Given the description of an element on the screen output the (x, y) to click on. 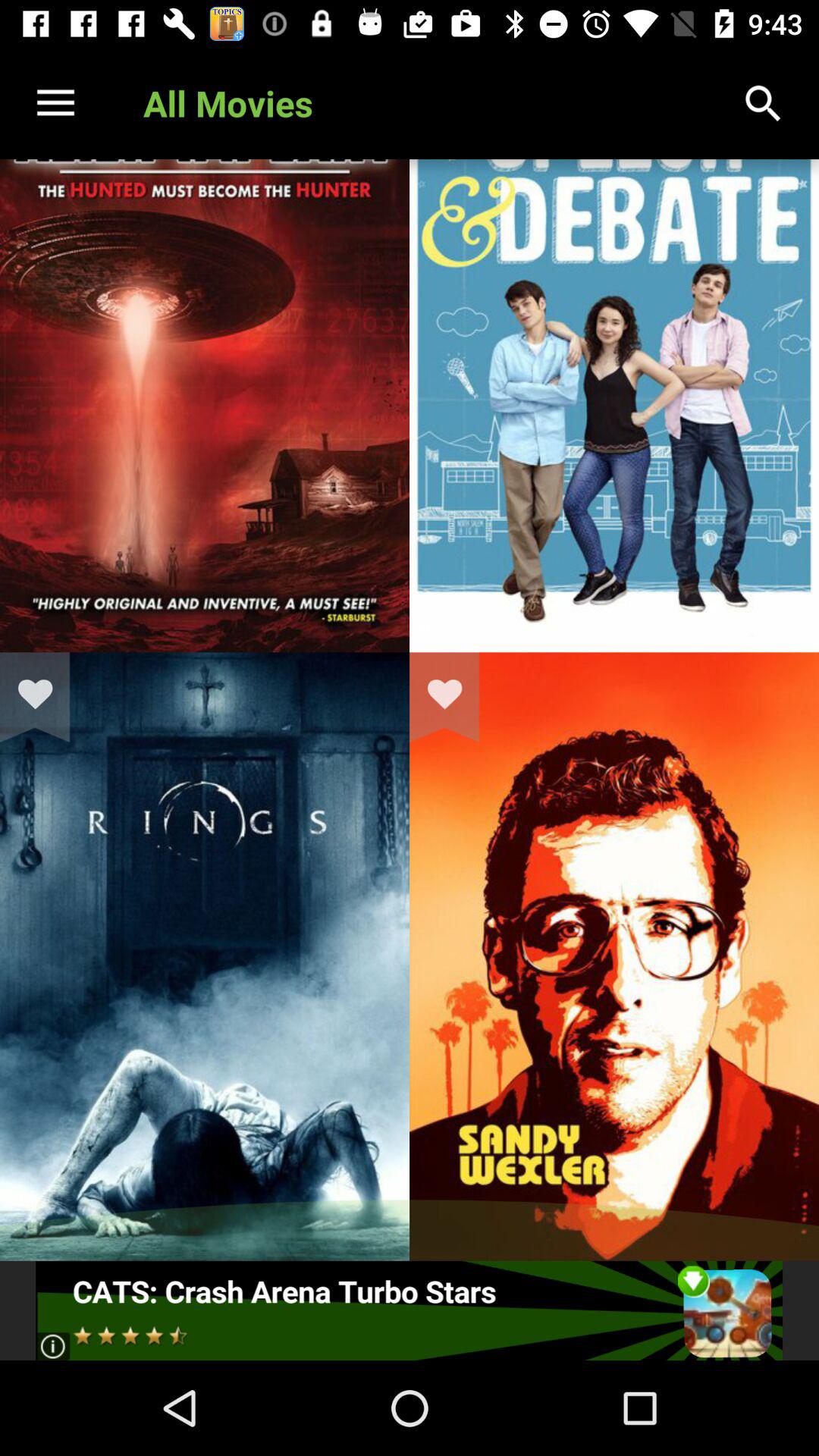
love the movie (454, 697)
